Given the description of an element on the screen output the (x, y) to click on. 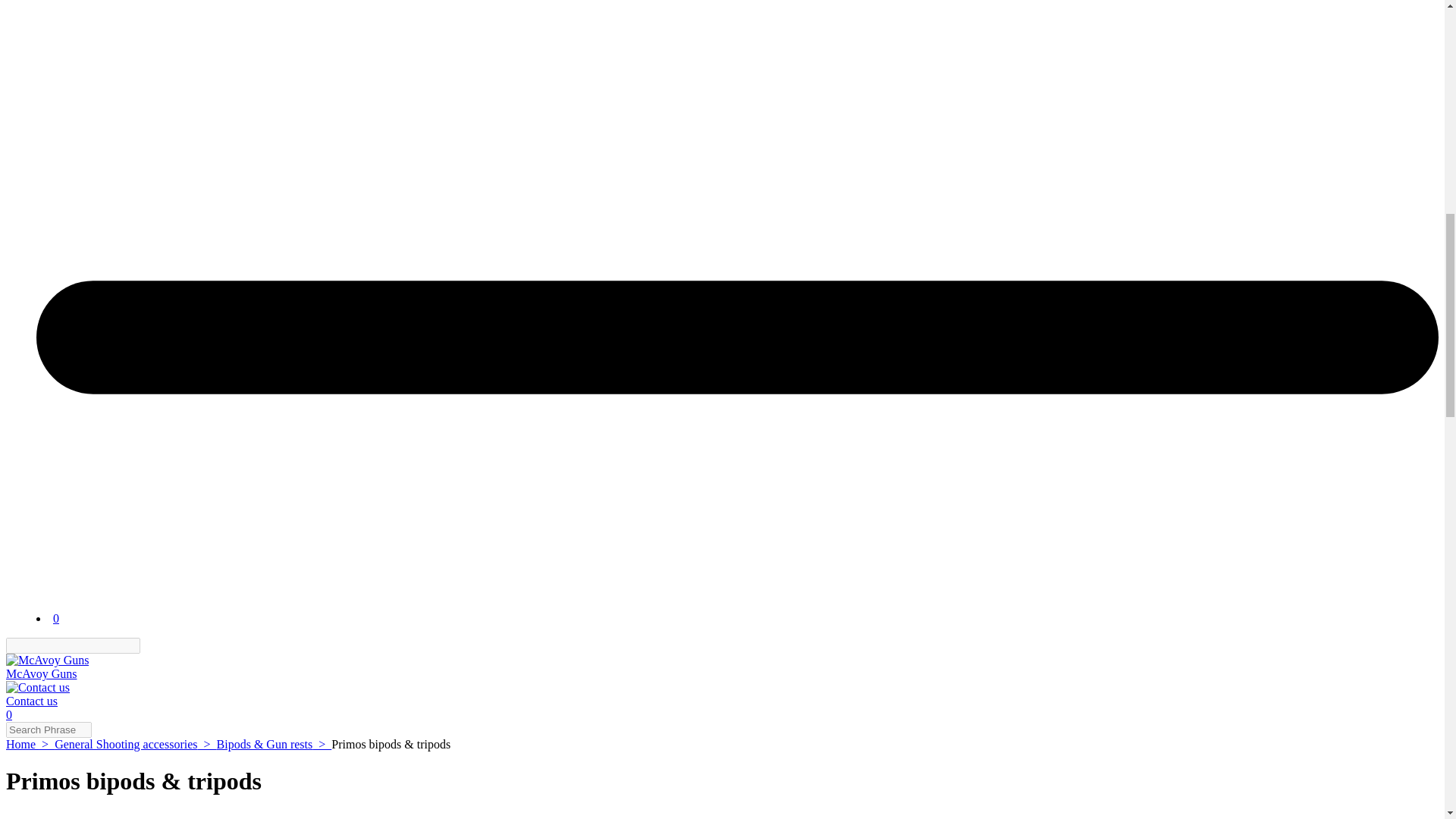
Home  (30, 744)
General Shooting accessories (135, 744)
Find (148, 645)
